Given the description of an element on the screen output the (x, y) to click on. 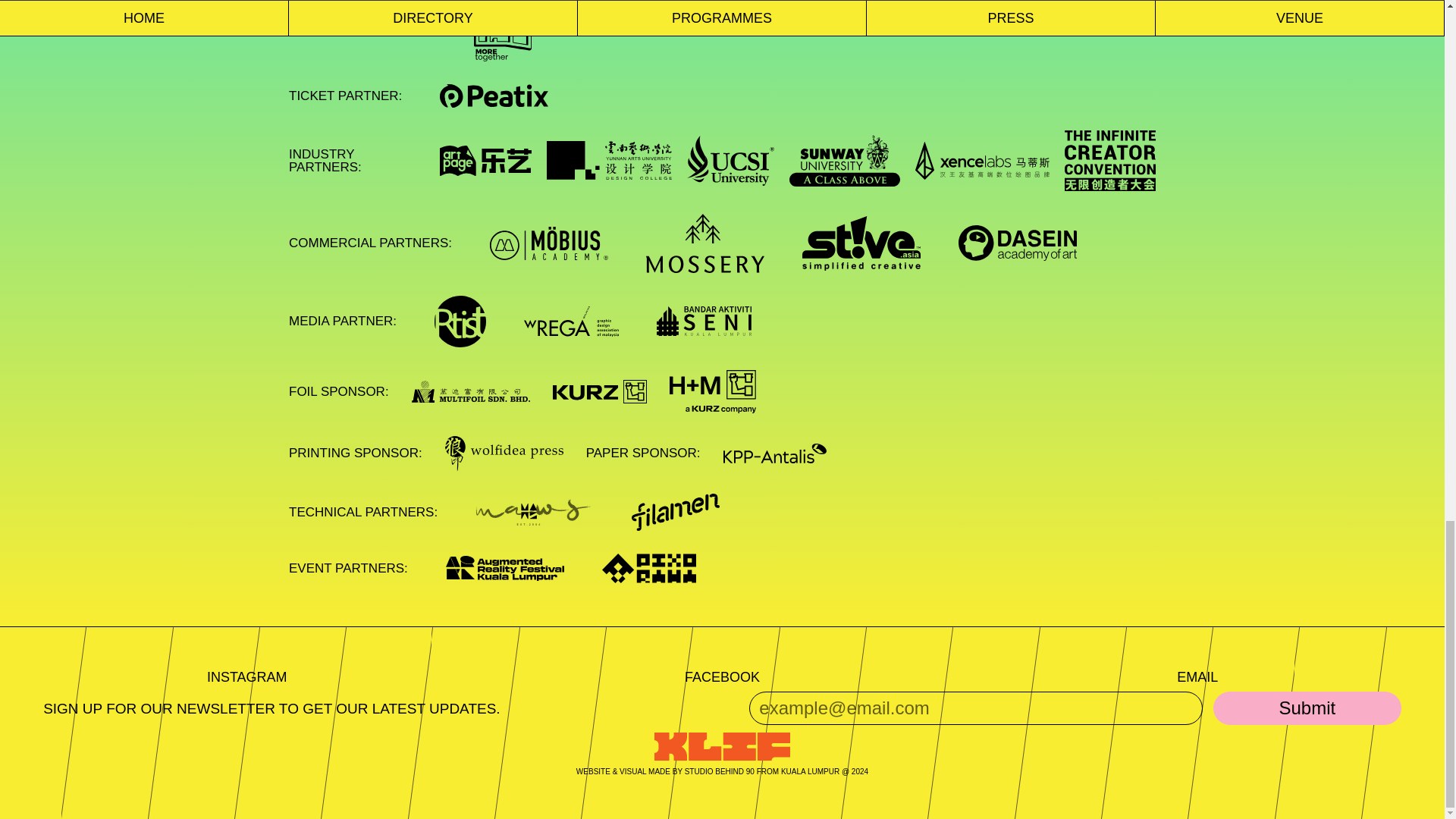
SIGN UP FOR OUR NEWSLETTER TO GET OUR LATEST UPDATES. (271, 708)
FACEBOOK (722, 676)
INSTAGRAM (246, 676)
EMAIL (1196, 676)
Submit (1306, 707)
